Given the description of an element on the screen output the (x, y) to click on. 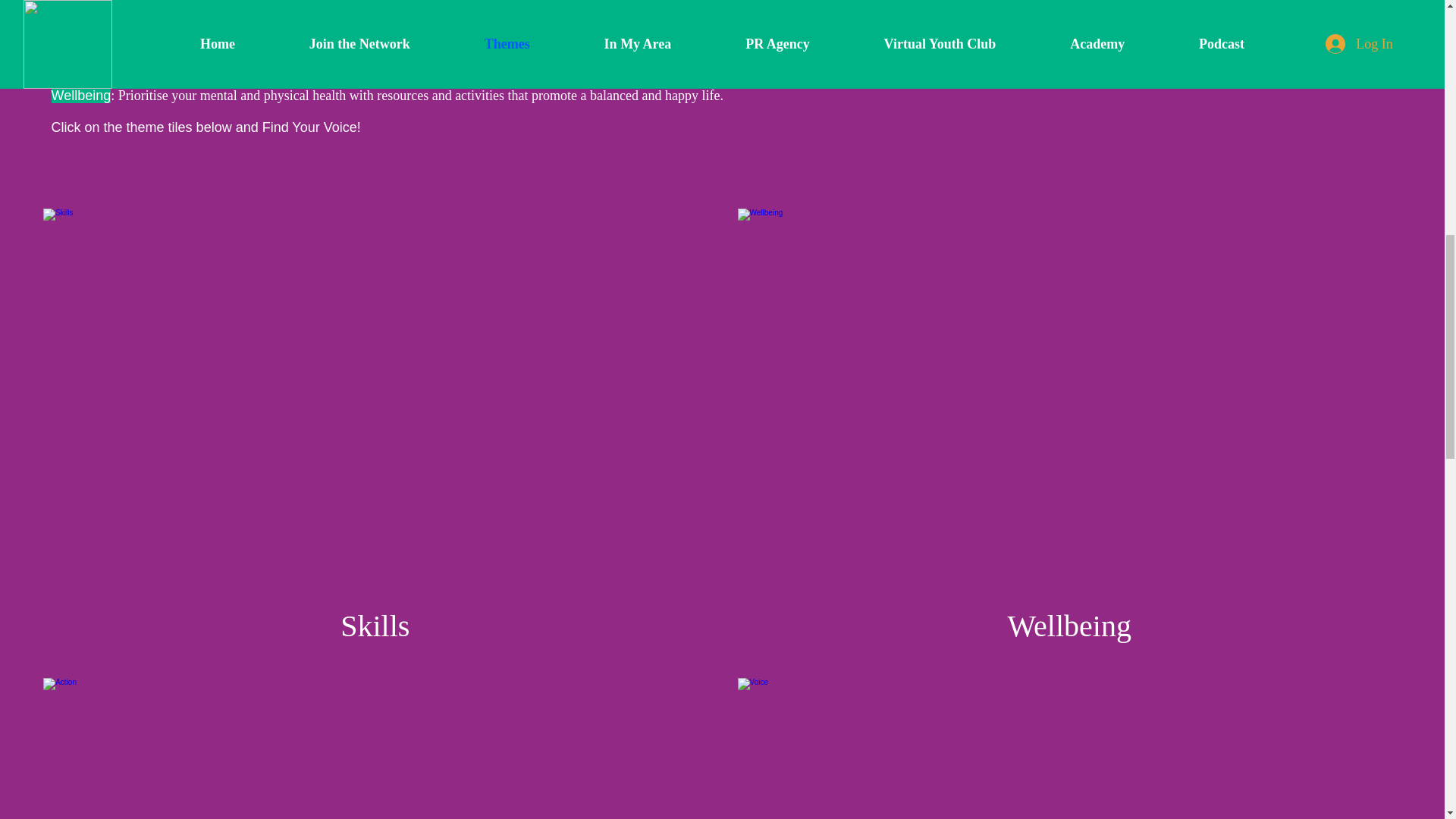
Skills (374, 625)
Wellbeing (1069, 625)
